Given the description of an element on the screen output the (x, y) to click on. 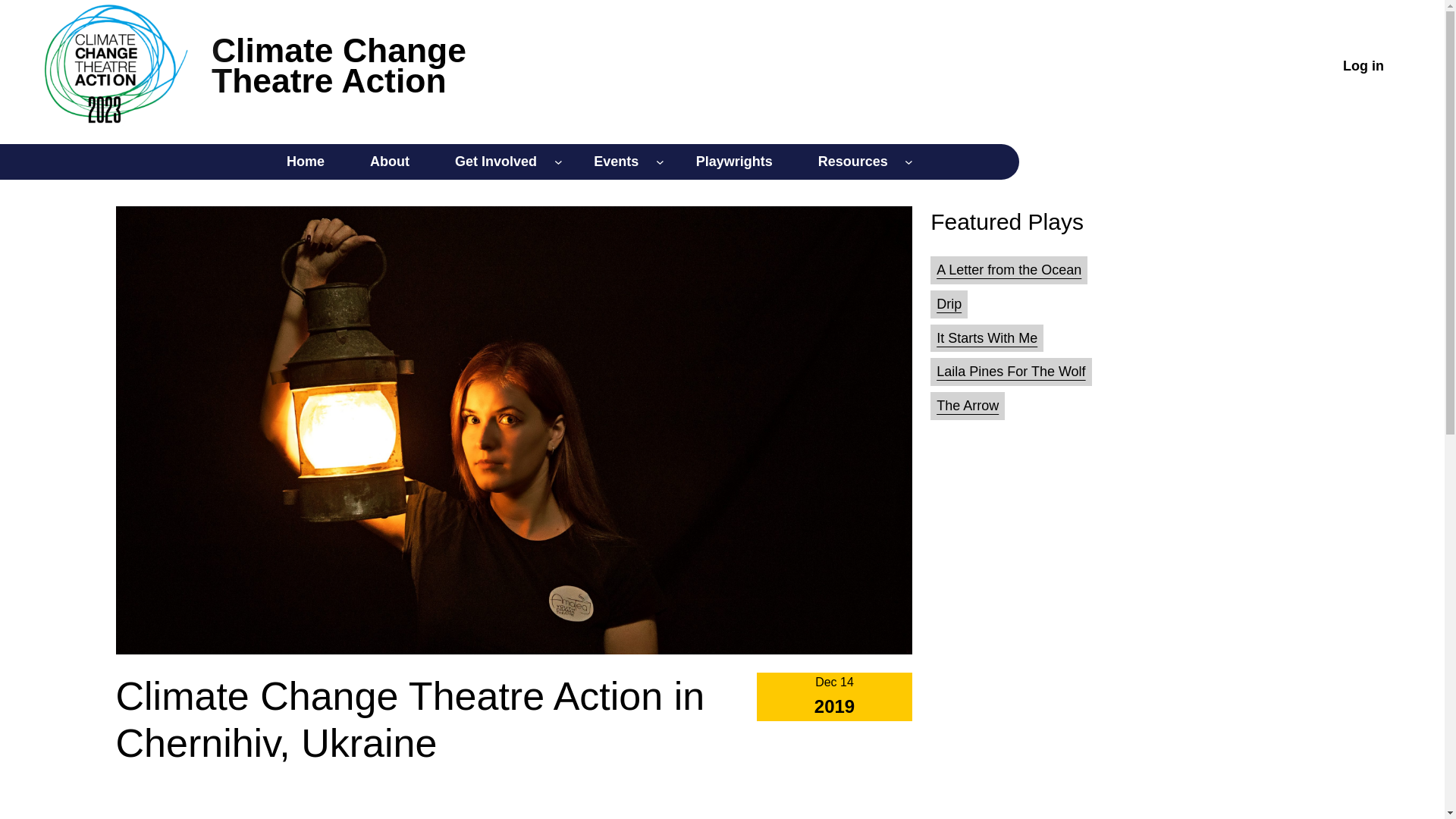
Get Involved (495, 161)
Playwrights (338, 65)
Log in (734, 161)
A Letter from the Ocean (1363, 65)
Events (1008, 269)
Resources (615, 161)
Drip (853, 161)
Home (948, 304)
About (305, 161)
It Starts With Me (389, 161)
The Arrow (986, 337)
Laila Pines For The Wolf (967, 405)
